Given the description of an element on the screen output the (x, y) to click on. 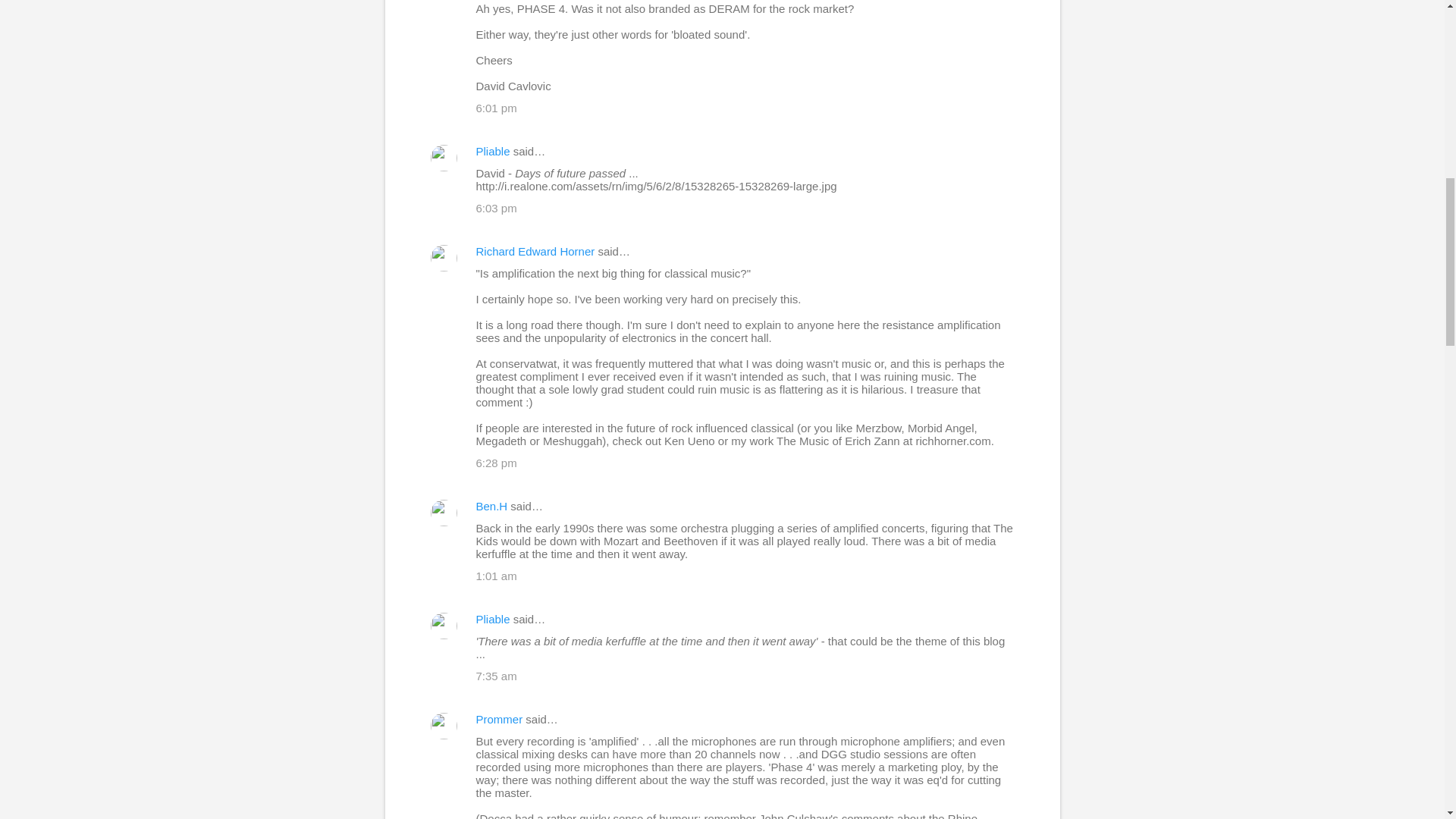
6:01 pm (496, 107)
6:03 pm (496, 207)
comment permalink (496, 107)
Pliable (493, 151)
